Given the description of an element on the screen output the (x, y) to click on. 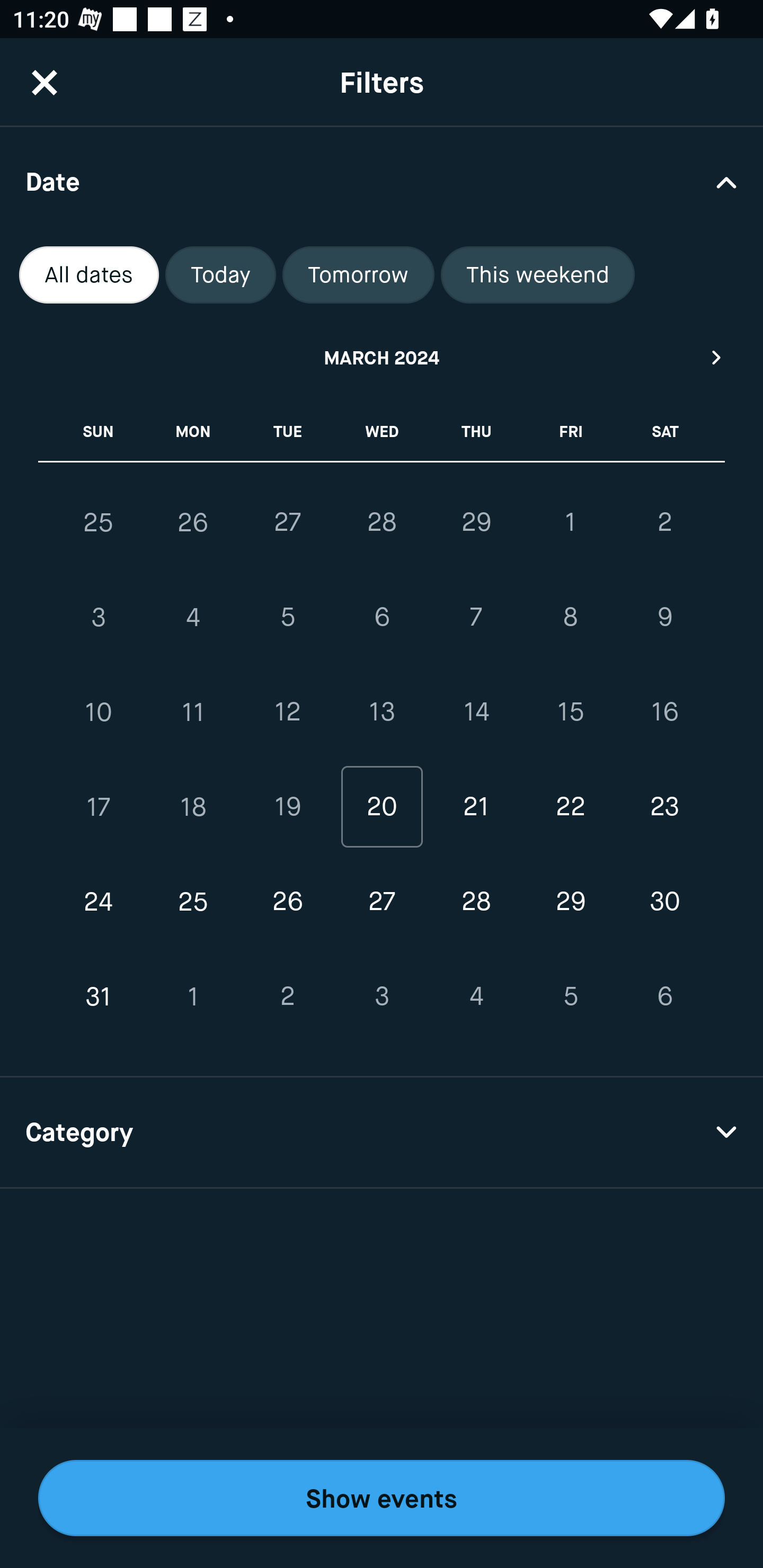
CloseButton (44, 82)
Date Drop Down Arrow (381, 181)
All dates (88, 274)
Today (220, 274)
Tomorrow (358, 274)
This weekend (537, 274)
Next (717, 357)
25 (98, 522)
26 (192, 522)
27 (287, 522)
28 (381, 522)
29 (475, 522)
1 (570, 522)
2 (664, 522)
3 (98, 617)
4 (192, 617)
5 (287, 617)
6 (381, 617)
7 (475, 617)
8 (570, 617)
9 (664, 617)
10 (98, 711)
11 (192, 711)
12 (287, 711)
13 (381, 711)
14 (475, 711)
15 (570, 711)
16 (664, 711)
17 (98, 806)
18 (192, 806)
19 (287, 806)
20 (381, 806)
21 (475, 806)
22 (570, 806)
23 (664, 806)
24 (98, 901)
25 (192, 901)
26 (287, 901)
27 (381, 901)
28 (475, 901)
29 (570, 901)
30 (664, 901)
31 (98, 996)
1 (192, 996)
2 (287, 996)
3 (381, 996)
4 (475, 996)
5 (570, 996)
6 (664, 996)
Category Drop Down Arrow (381, 1132)
Show events (381, 1497)
